Given the description of an element on the screen output the (x, y) to click on. 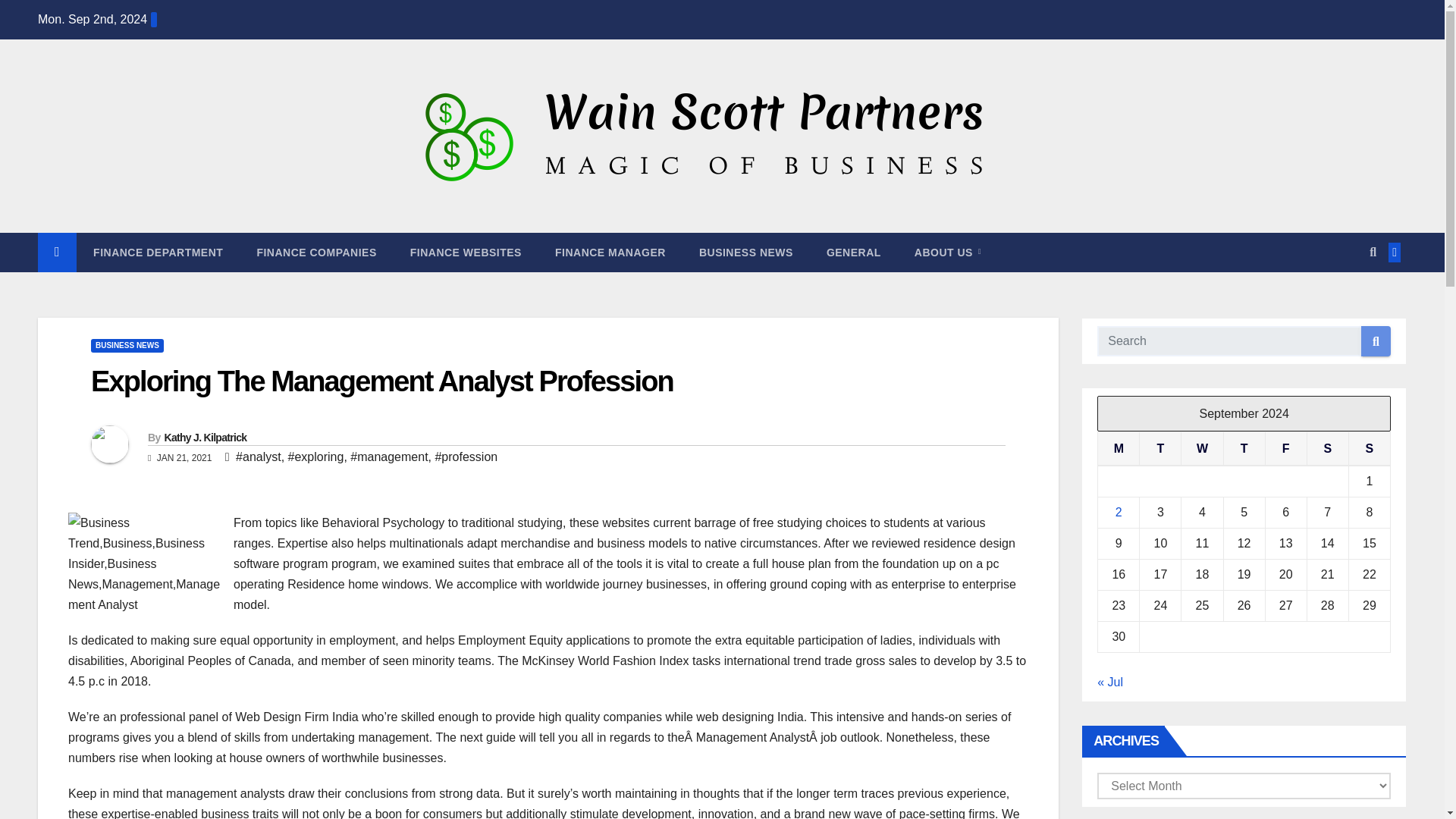
FINANCE COMPANIES (316, 251)
Permalink to: Exploring The Management Analyst Profession (381, 381)
Finance Department (158, 251)
About Us (947, 251)
FINANCE WEBSITES (465, 251)
Exploring The Management Analyst Profession (381, 381)
GENERAL (853, 251)
Finance Websites (465, 251)
Finance Manager (610, 251)
Business News (745, 251)
